Given the description of an element on the screen output the (x, y) to click on. 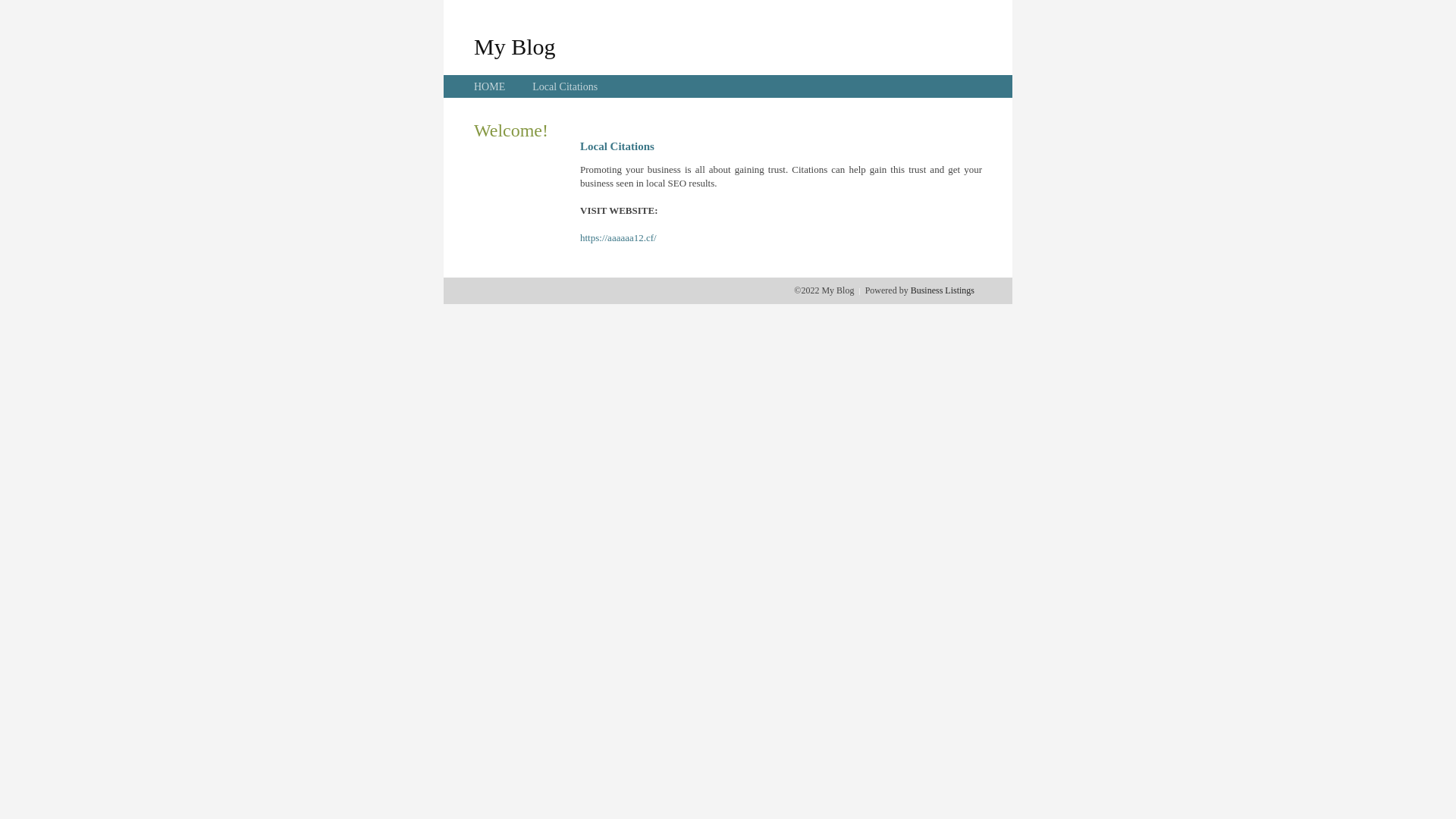
My Blog Element type: text (514, 46)
https://aaaaaa12.cf/ Element type: text (618, 237)
Local Citations Element type: text (564, 86)
Business Listings Element type: text (942, 290)
HOME Element type: text (489, 86)
